Given the description of an element on the screen output the (x, y) to click on. 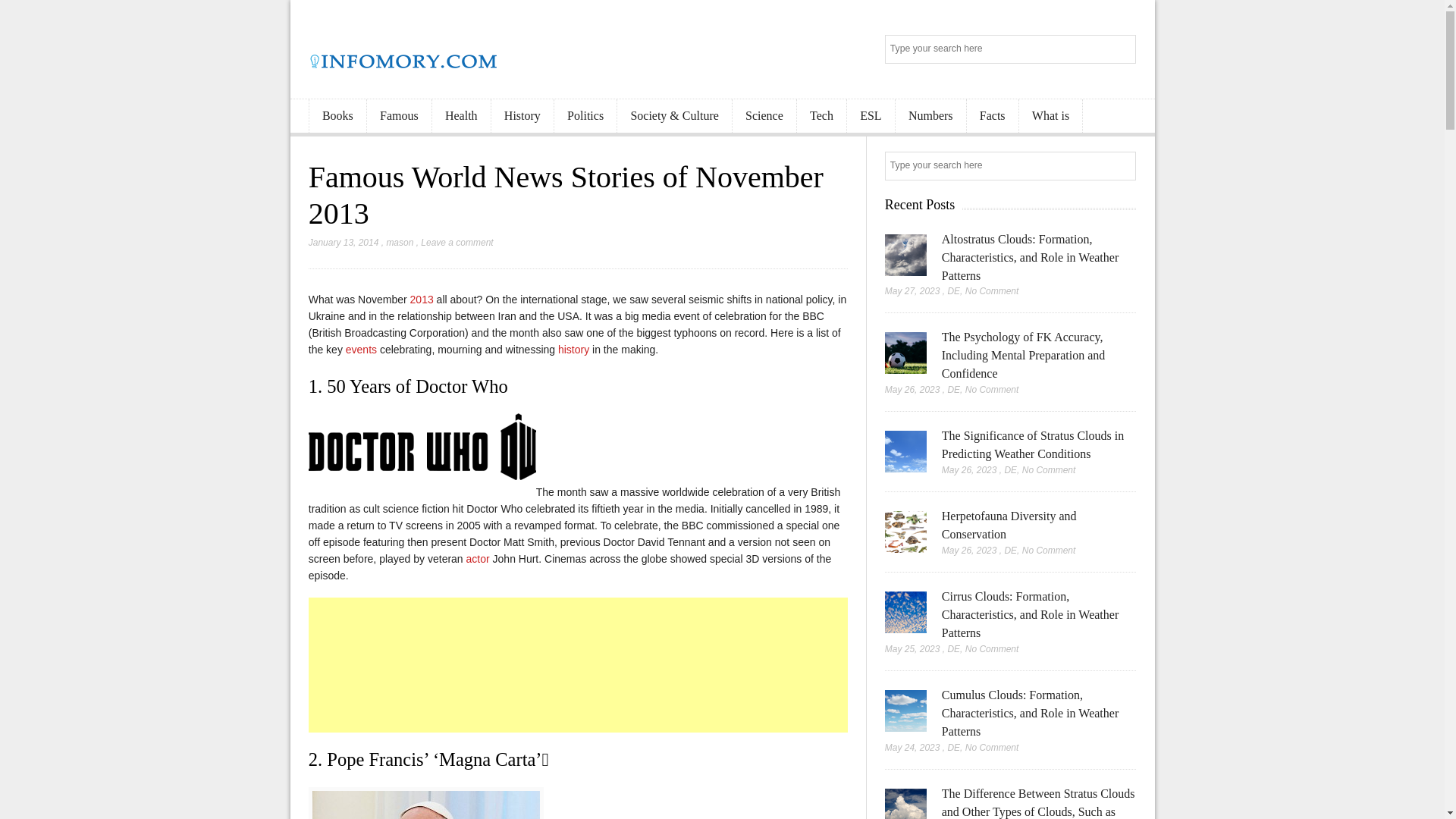
Posts by mason (399, 242)
Health (461, 116)
FAMOUS IMPORTANT WORLD NEWS STORIES OF AUGUST 2013 (421, 299)
Politics (584, 116)
2013 (421, 299)
Facts (991, 116)
FAMOUS HISTORICAL EVENTS OF DECEMBER 25TH (361, 349)
Science (764, 116)
FAMOUS PHOTOGRAPHERS IN HISTORY (573, 349)
Numbers (930, 116)
Leave a comment (456, 242)
mason (399, 242)
history (573, 349)
actor (477, 558)
events (361, 349)
